Given the description of an element on the screen output the (x, y) to click on. 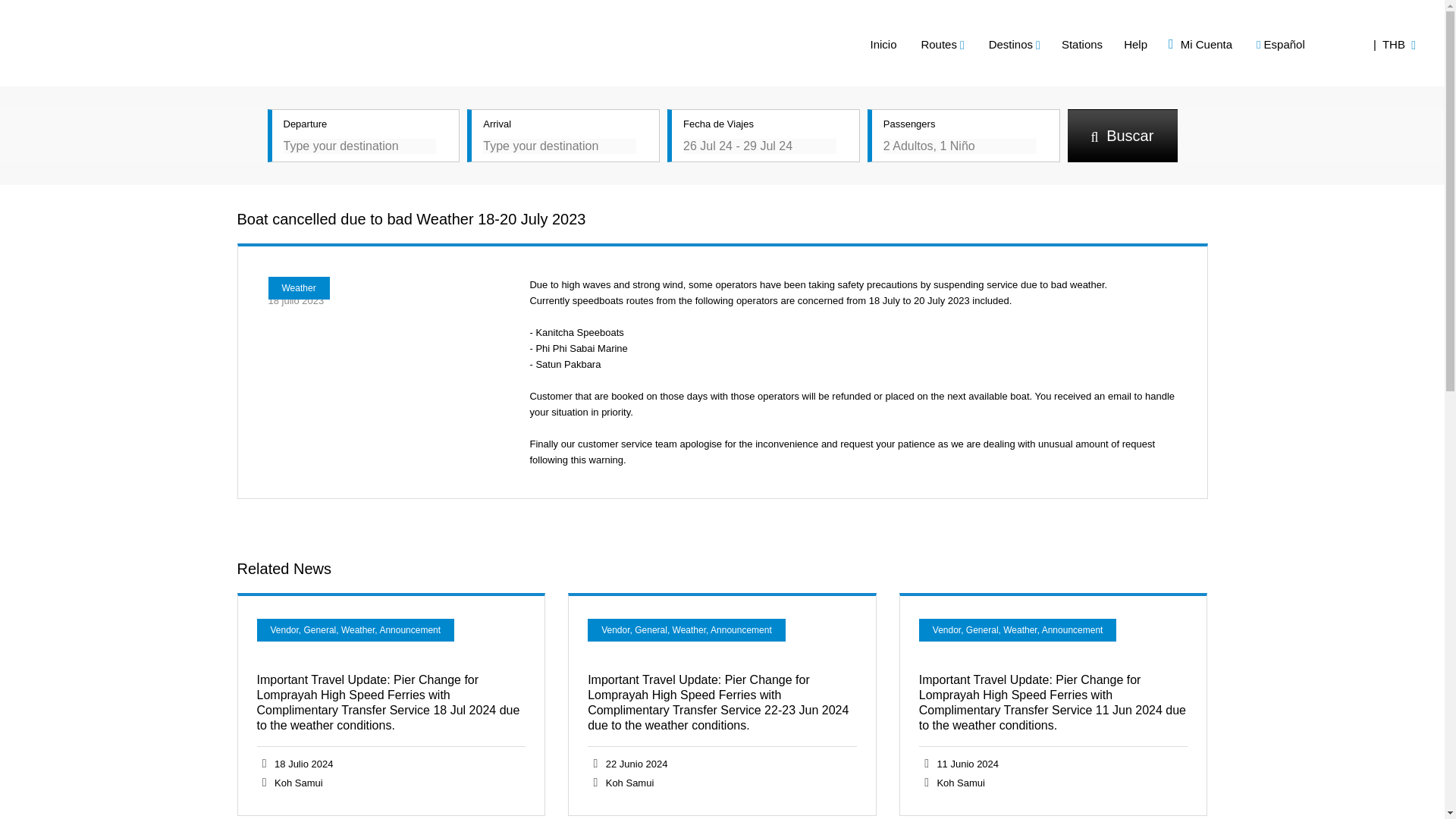
Help (1135, 43)
Buscar (1122, 135)
Inicio (883, 43)
Destinos (1014, 43)
Stations (1081, 43)
Mi Cuenta (1200, 44)
Routes (941, 43)
